Given the description of an element on the screen output the (x, y) to click on. 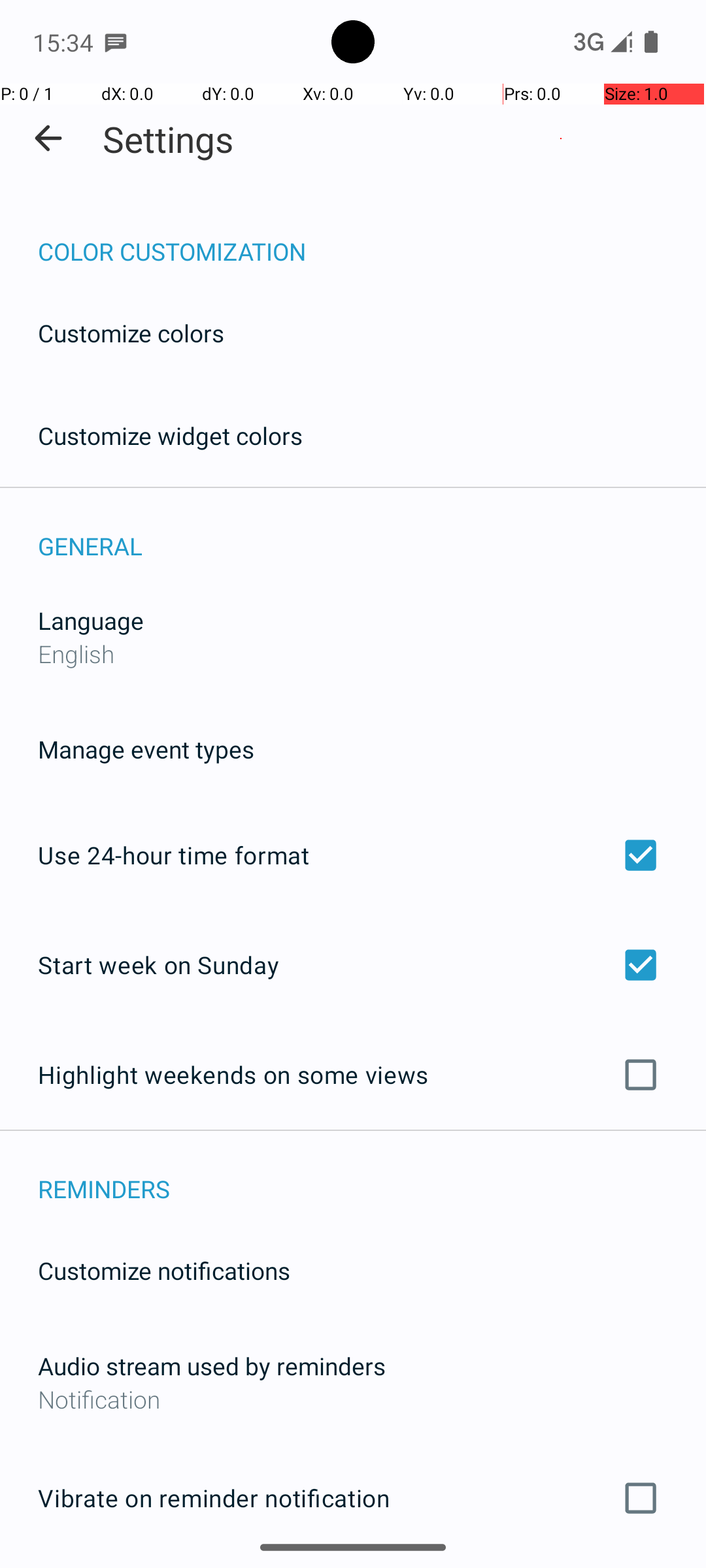
COLOR CUSTOMIZATION Element type: android.widget.TextView (371, 237)
GENERAL Element type: android.widget.TextView (371, 532)
REMINDERS Element type: android.widget.TextView (371, 1174)
Customize colors Element type: android.widget.TextView (130, 332)
Customize widget colors Element type: android.widget.TextView (170, 435)
Language Element type: android.widget.TextView (90, 620)
English Element type: android.widget.TextView (75, 653)
Manage event types Element type: android.widget.TextView (145, 748)
Use 24-hour time format Element type: android.widget.CheckBox (352, 855)
Start week on Sunday Element type: android.widget.CheckBox (352, 964)
Highlight weekends on some views Element type: android.widget.CheckBox (352, 1074)
Customize notifications Element type: android.widget.TextView (163, 1270)
Audio stream used by reminders Element type: android.widget.TextView (211, 1365)
Notification Element type: android.widget.TextView (352, 1398)
Vibrate on reminder notification Element type: android.widget.CheckBox (352, 1497)
Loop reminders until dismissed Element type: android.widget.CheckBox (352, 1567)
